Given the description of an element on the screen output the (x, y) to click on. 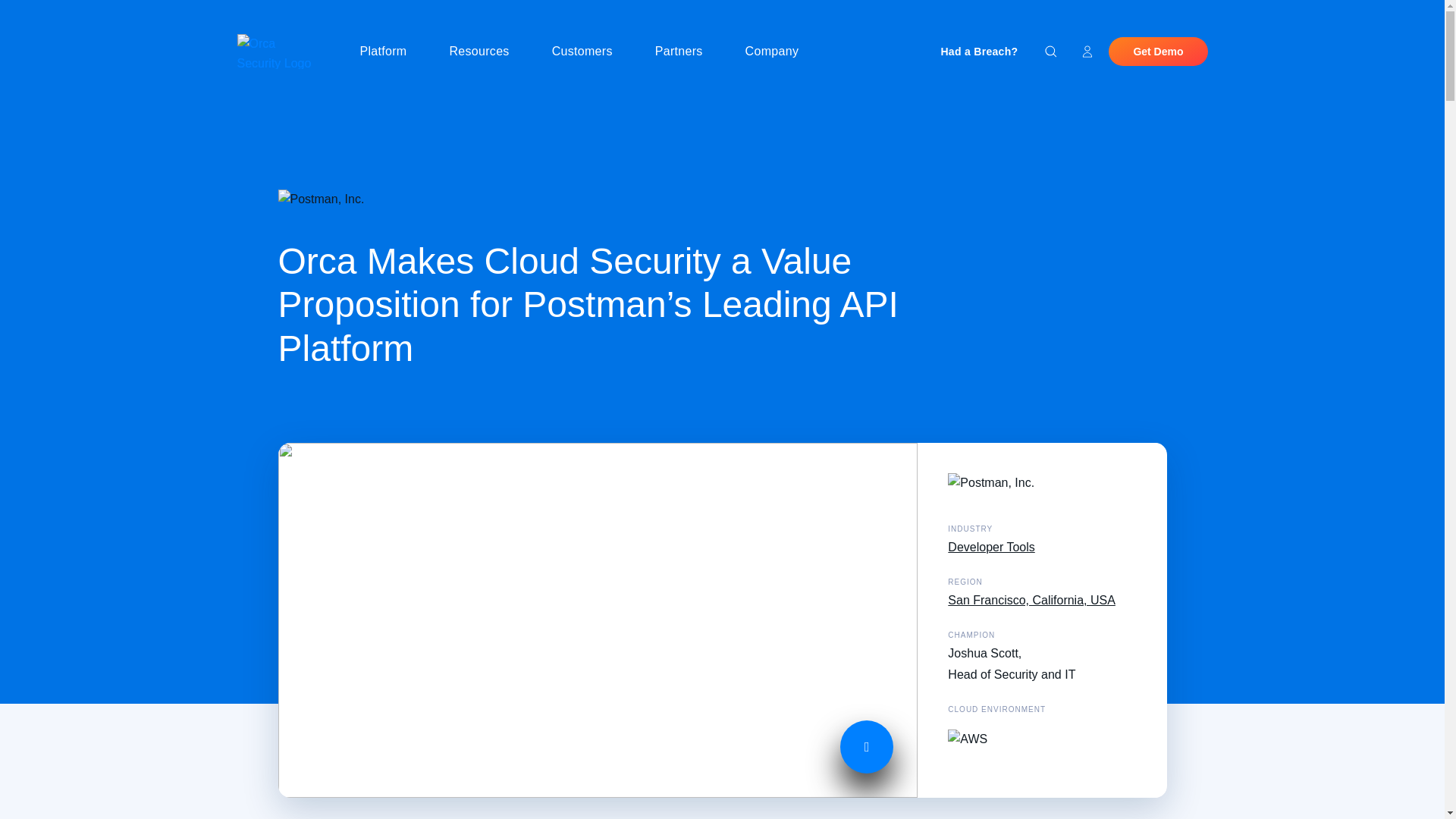
Resources (484, 51)
Platform (388, 51)
